Given the description of an element on the screen output the (x, y) to click on. 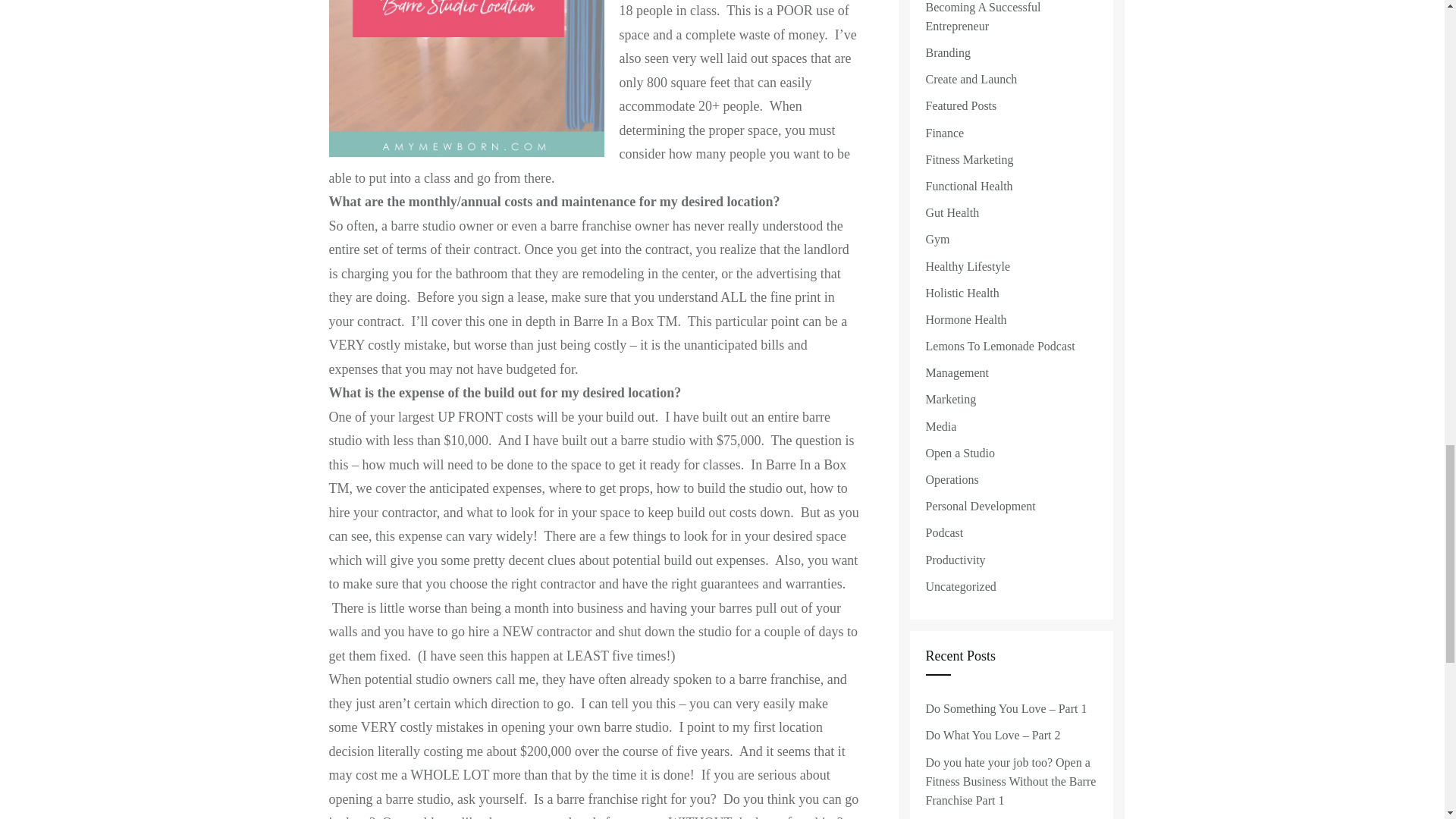
Branding (947, 52)
Becoming A Successful Entrepreneur (1010, 18)
Finance (943, 132)
Featured Posts (959, 105)
Fitness Marketing (968, 158)
Create and Launch (970, 78)
